Given the description of an element on the screen output the (x, y) to click on. 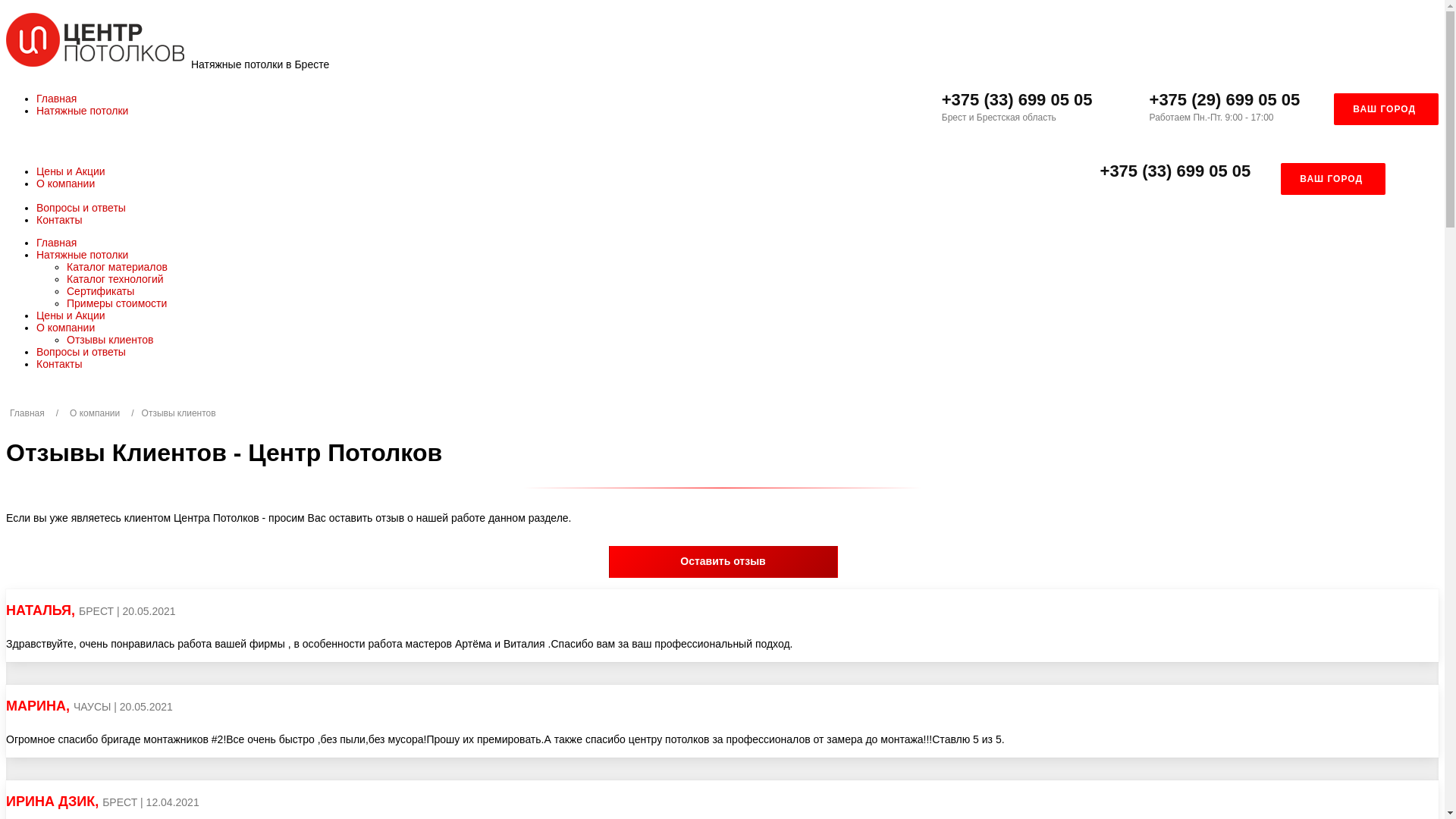
+375 (33) 699 05 05 Element type: text (1175, 170)
+375 (33) 699 05 05 Element type: text (1016, 99)
+375 (29) 699 05 05 Element type: text (1224, 99)
